Given the description of an element on the screen output the (x, y) to click on. 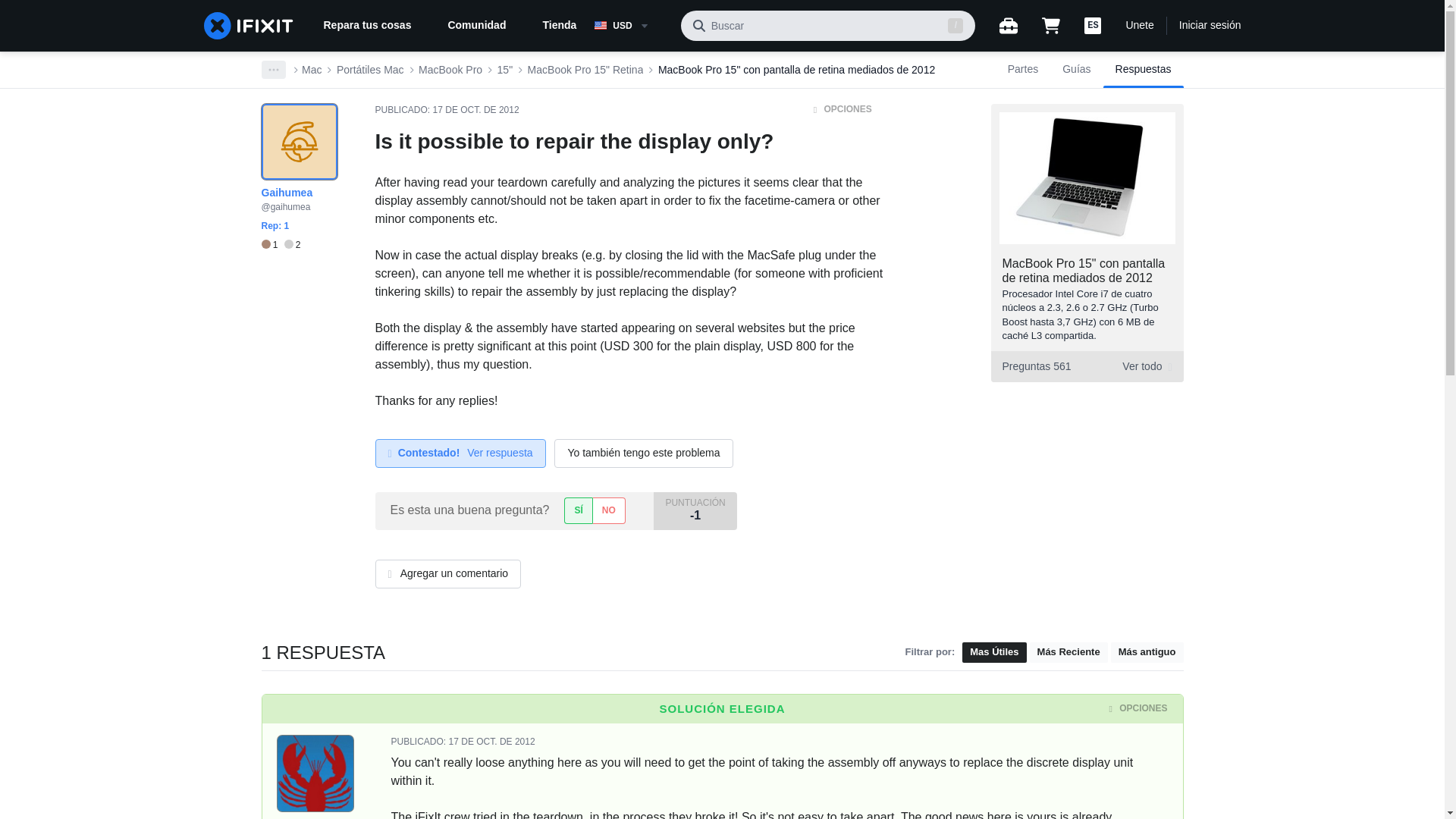
MacBook Pro 15" con pantalla de retina mediados de 2012 (796, 69)
ES (1092, 25)
Wed, 17 Oct 2012 10:58:47 -0700 (491, 741)
2 insignias de Plata (292, 245)
Respuestas (1086, 366)
PUBLICADO: 17 DE OCT. DE 2012 (1143, 69)
1 insignias de Bronce (446, 109)
MacBook Pro (271, 245)
MacBook Pro 15" Retina (450, 69)
USD (585, 69)
15" (631, 25)
Mac (505, 69)
MacBook Pro 15" con pantalla de retina mediados de 2012 (311, 69)
1 2 (1084, 270)
